Given the description of an element on the screen output the (x, y) to click on. 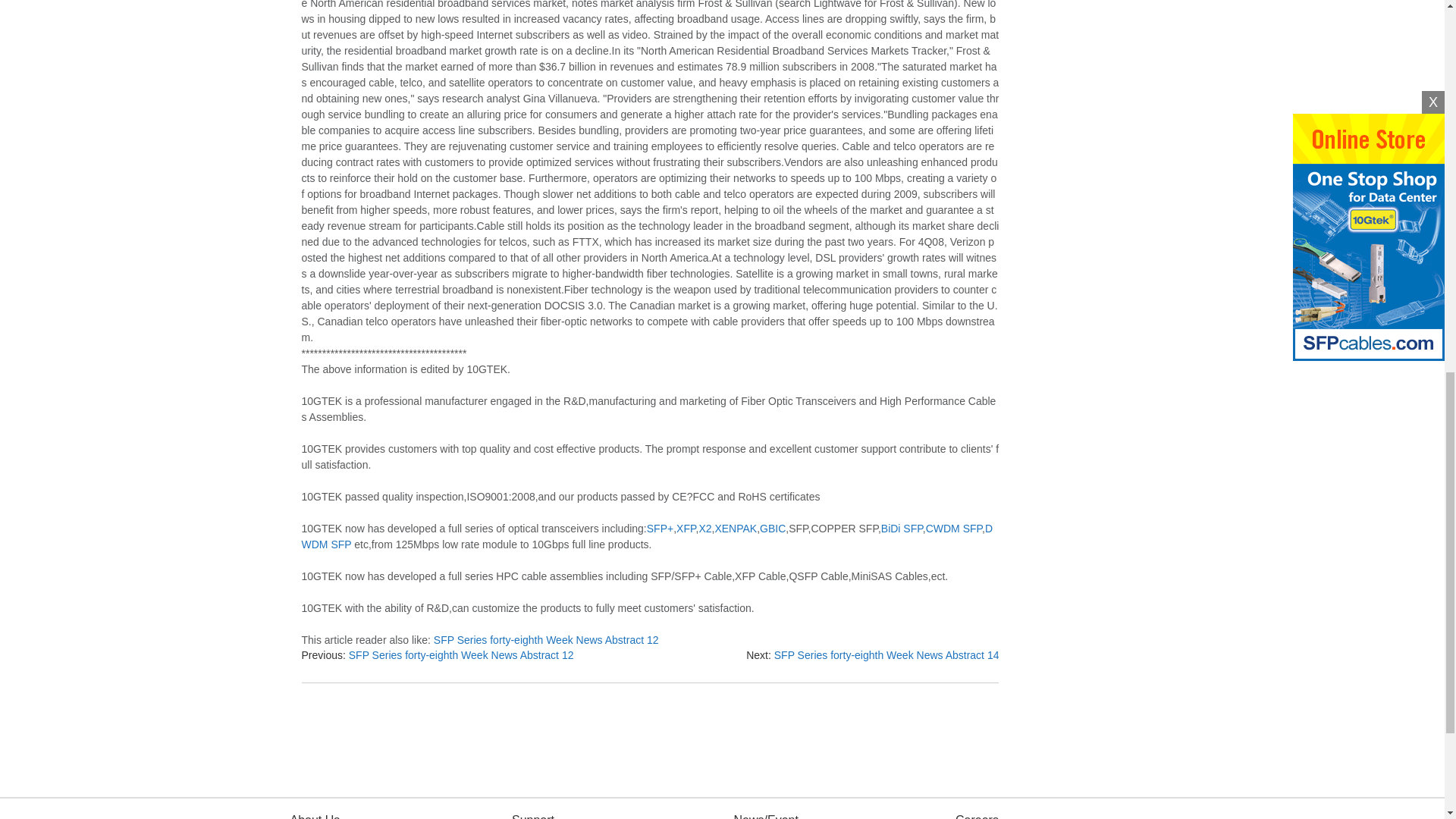
XENPAK (735, 528)
XFP (686, 528)
GBIC (773, 528)
BiDi SFP (901, 528)
X2 (704, 528)
